Given the description of an element on the screen output the (x, y) to click on. 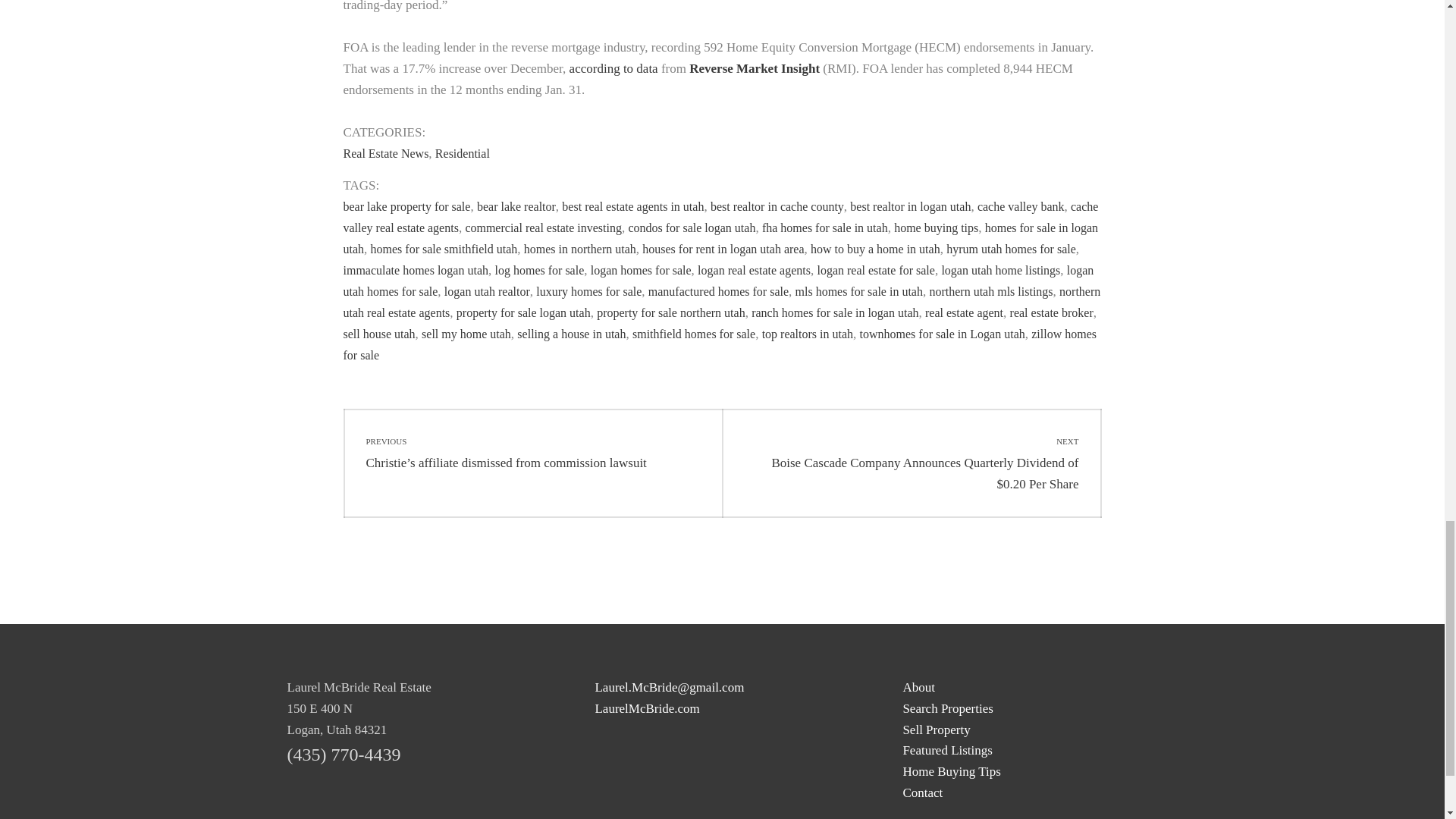
according to data (613, 68)
home buying tips (935, 227)
fha homes for sale in utah (824, 227)
Residential (462, 153)
commercial real estate investing (542, 227)
cache valley bank (1020, 205)
condos for sale logan utah (691, 227)
best real estate agents in utah (632, 205)
Real Estate News (385, 153)
cache valley real estate agents (719, 216)
